Given the description of an element on the screen output the (x, y) to click on. 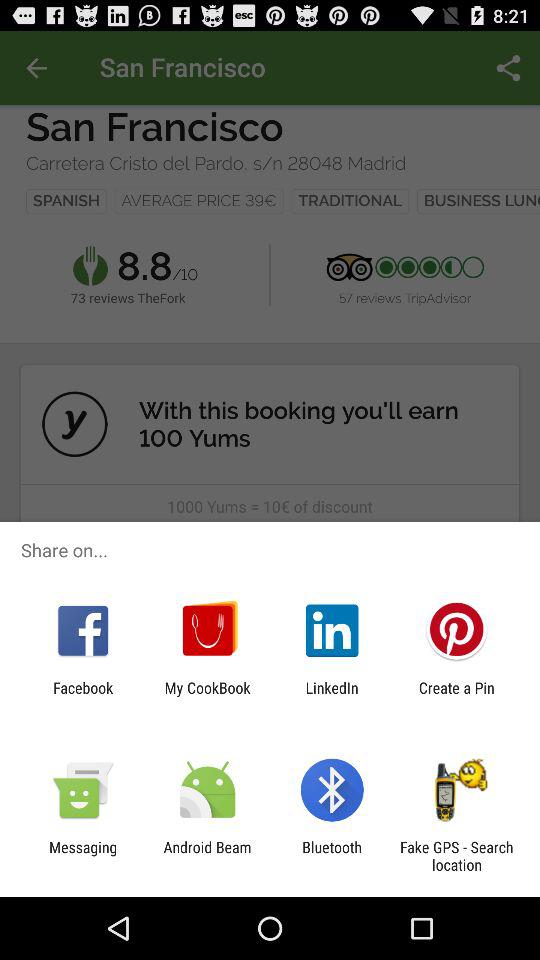
open item to the left of my cookbook (83, 696)
